Given the description of an element on the screen output the (x, y) to click on. 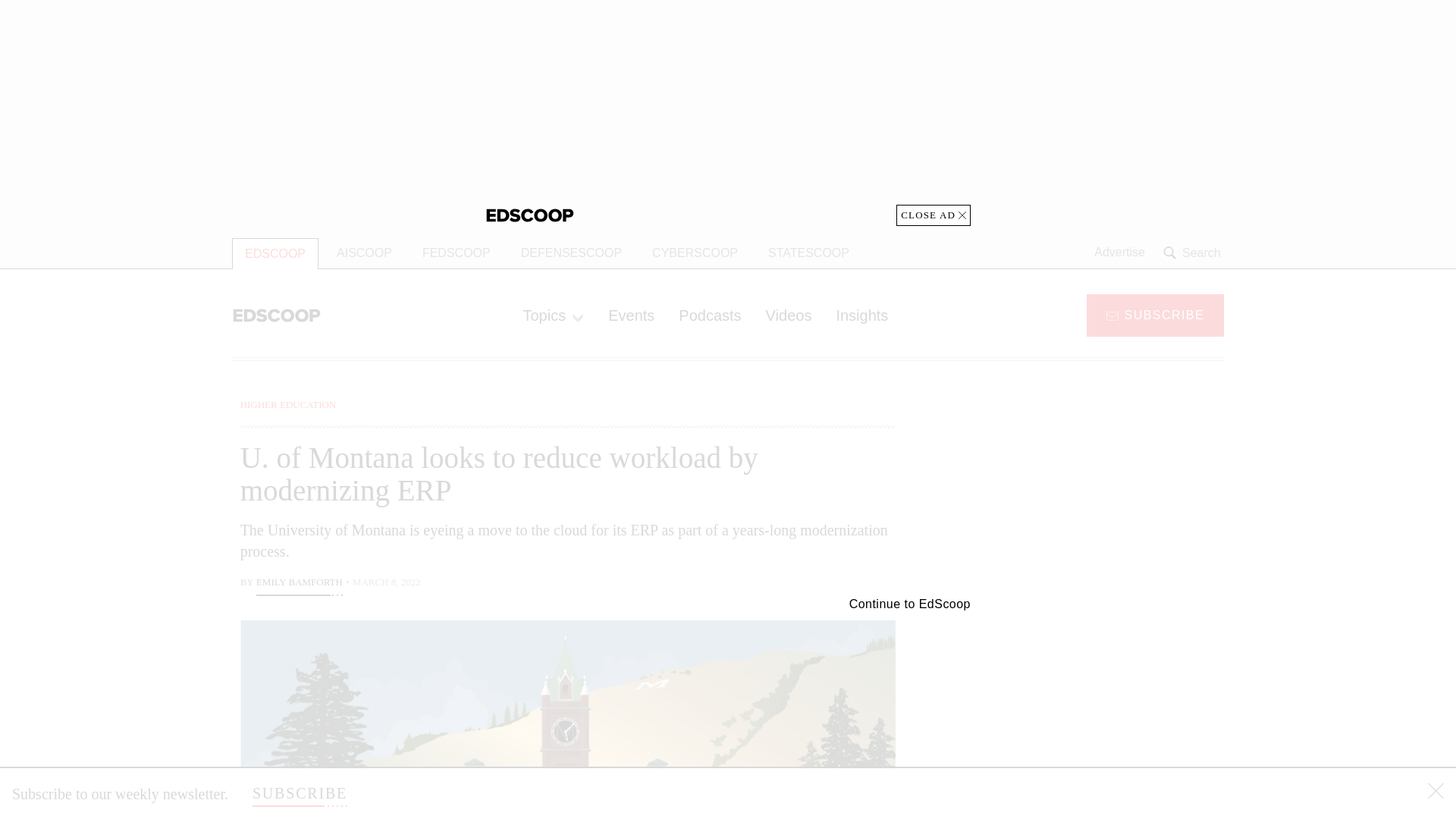
HIGHER EDUCATION (288, 404)
3rd party ad content (1101, 492)
Emily Bamforth (299, 583)
Events (630, 315)
3rd party ad content (1101, 705)
DEFENSESCOOP (570, 253)
SUBSCRIBE (299, 793)
Insights (861, 315)
3rd party ad content (727, 112)
